Given the description of an element on the screen output the (x, y) to click on. 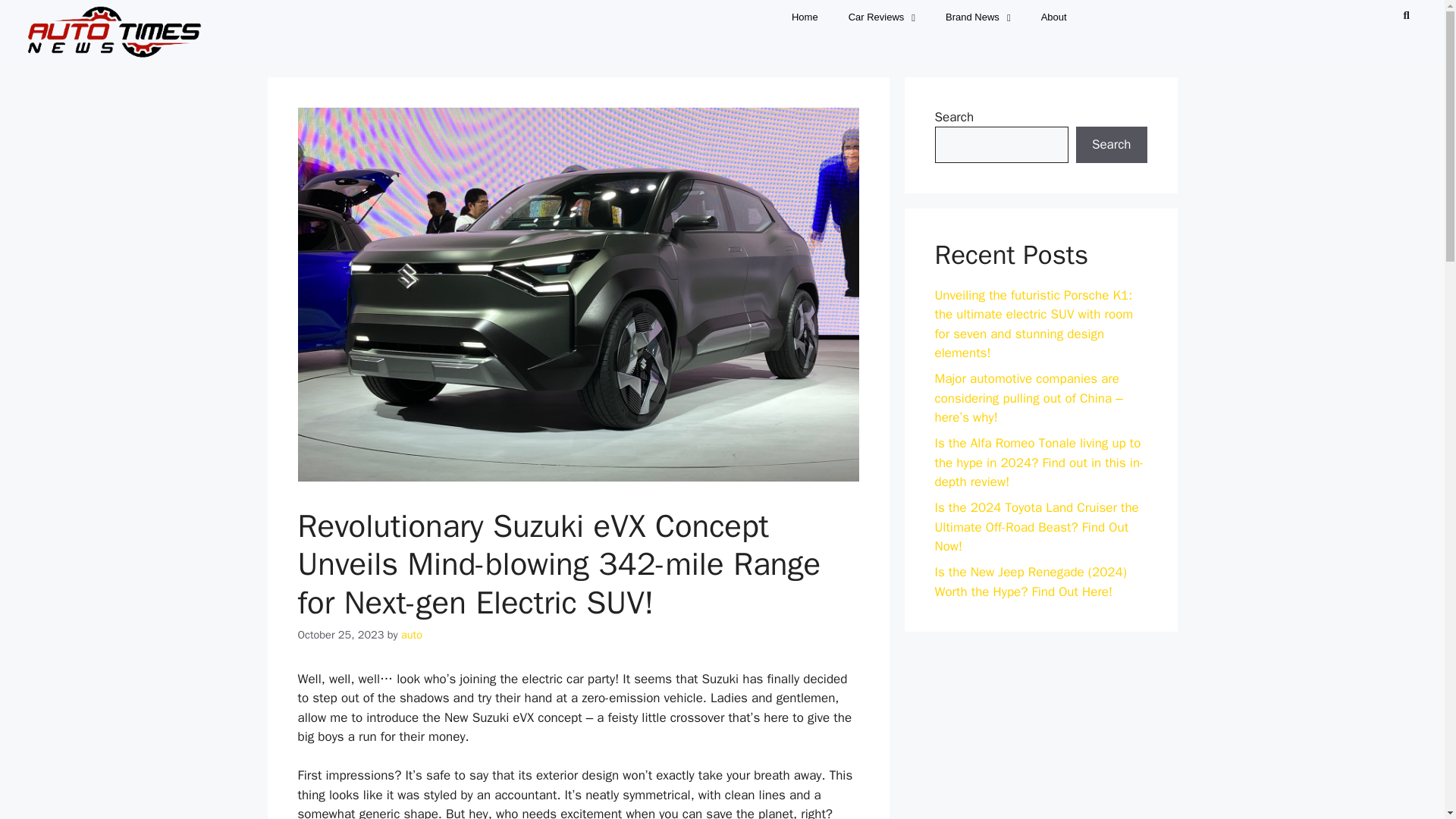
Brand News (978, 17)
auto (411, 634)
View all posts by auto (411, 634)
Car Reviews (881, 17)
Home (804, 17)
About (1053, 17)
Search (1400, 14)
